Given the description of an element on the screen output the (x, y) to click on. 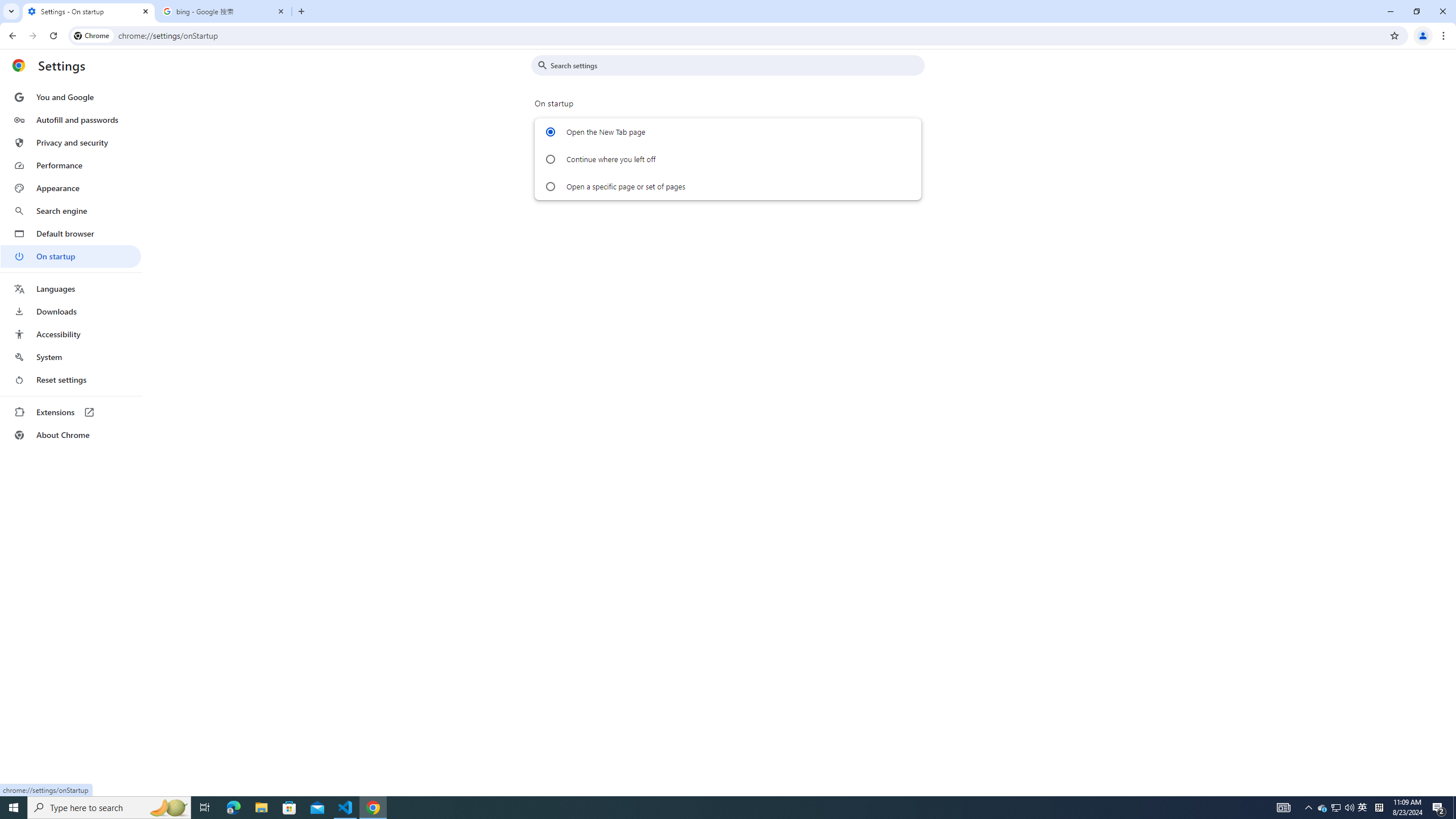
Downloads (70, 311)
Extensions (70, 412)
Open a specific page or set of pages (550, 186)
About Chrome (70, 434)
